Given the description of an element on the screen output the (x, y) to click on. 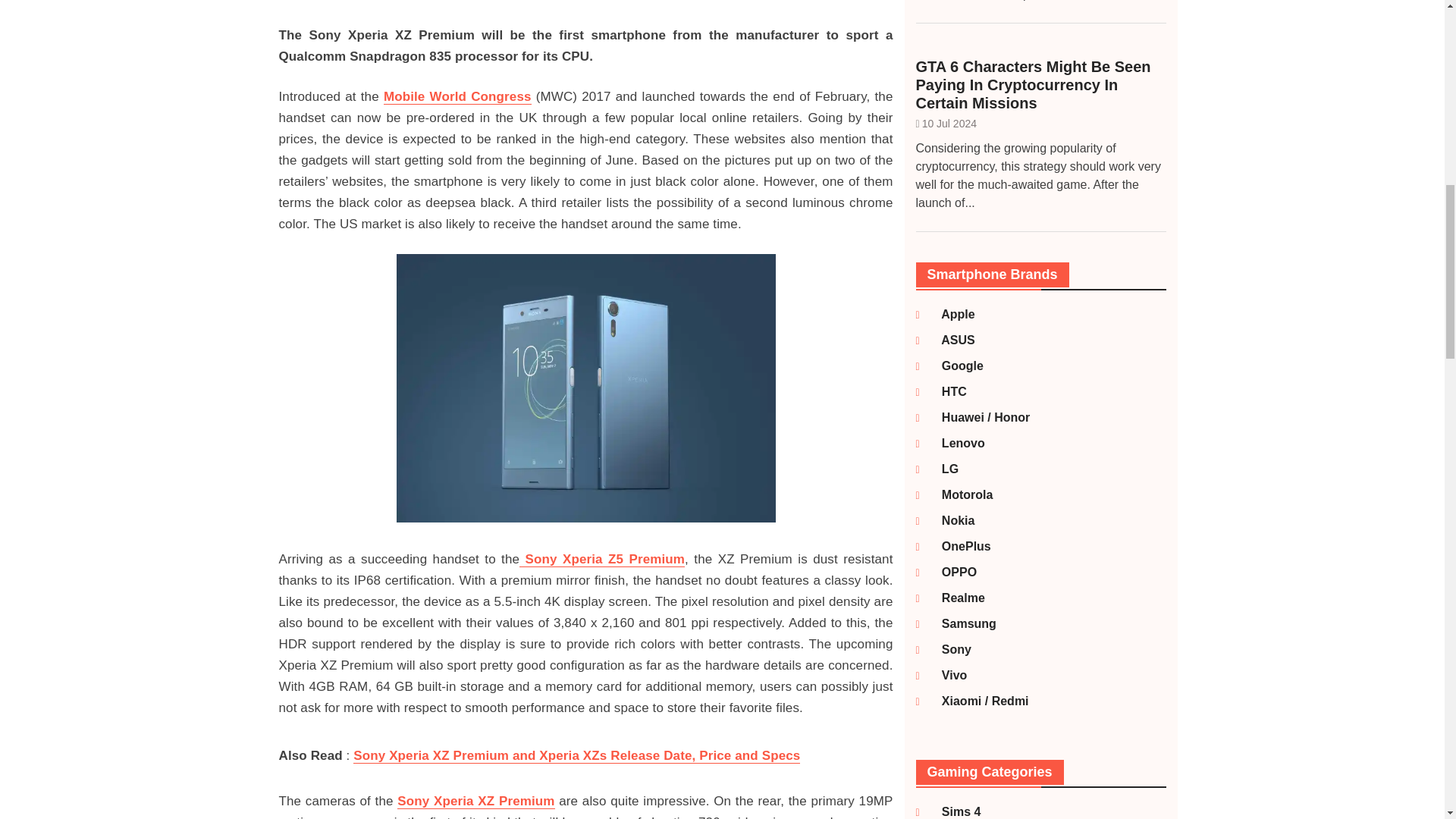
Mobile World Congress (457, 96)
Advertisement (586, 8)
Sony Xperia Z5 Premium (601, 559)
Sony Xperia XZ Premium (475, 801)
